Given the description of an element on the screen output the (x, y) to click on. 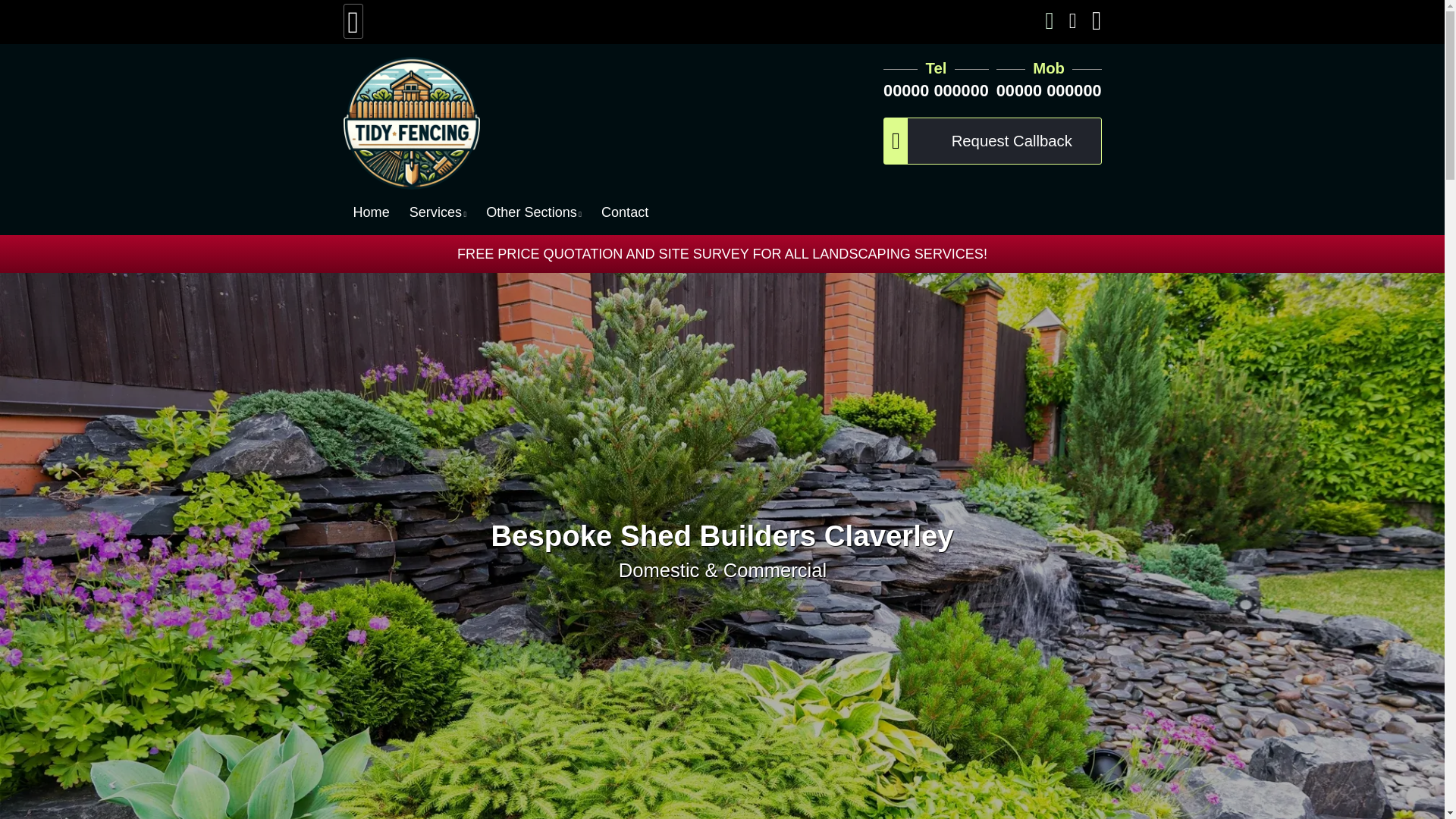
Tidy Fencing (529, 122)
Contact (624, 211)
00000 000000 (935, 90)
Message us on WhatsApp (1049, 22)
Home (371, 211)
00000 000000 (1048, 90)
